Given the description of an element on the screen output the (x, y) to click on. 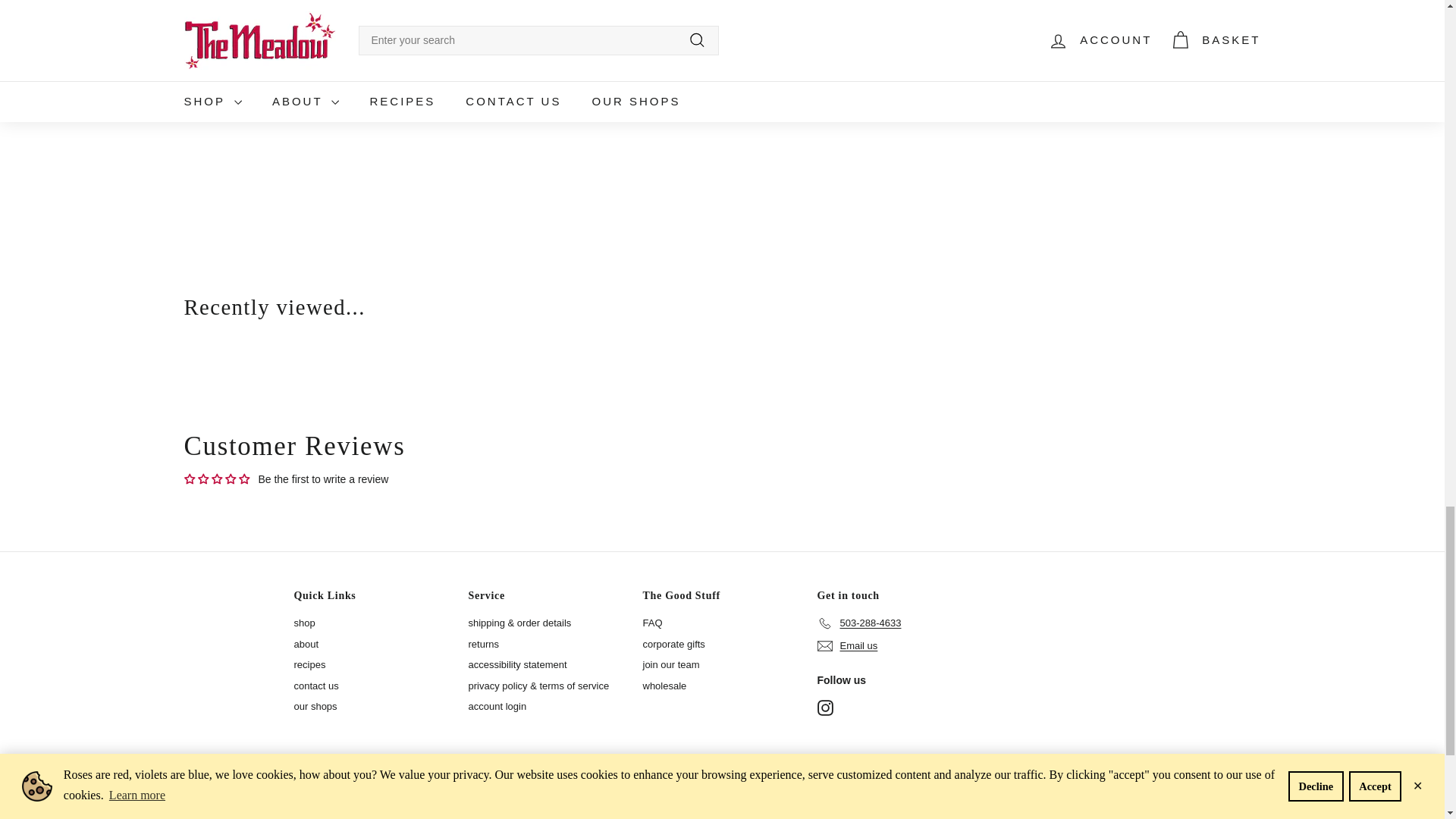
The Meadow on Instagram (824, 707)
instagram (824, 707)
